Given the description of an element on the screen output the (x, y) to click on. 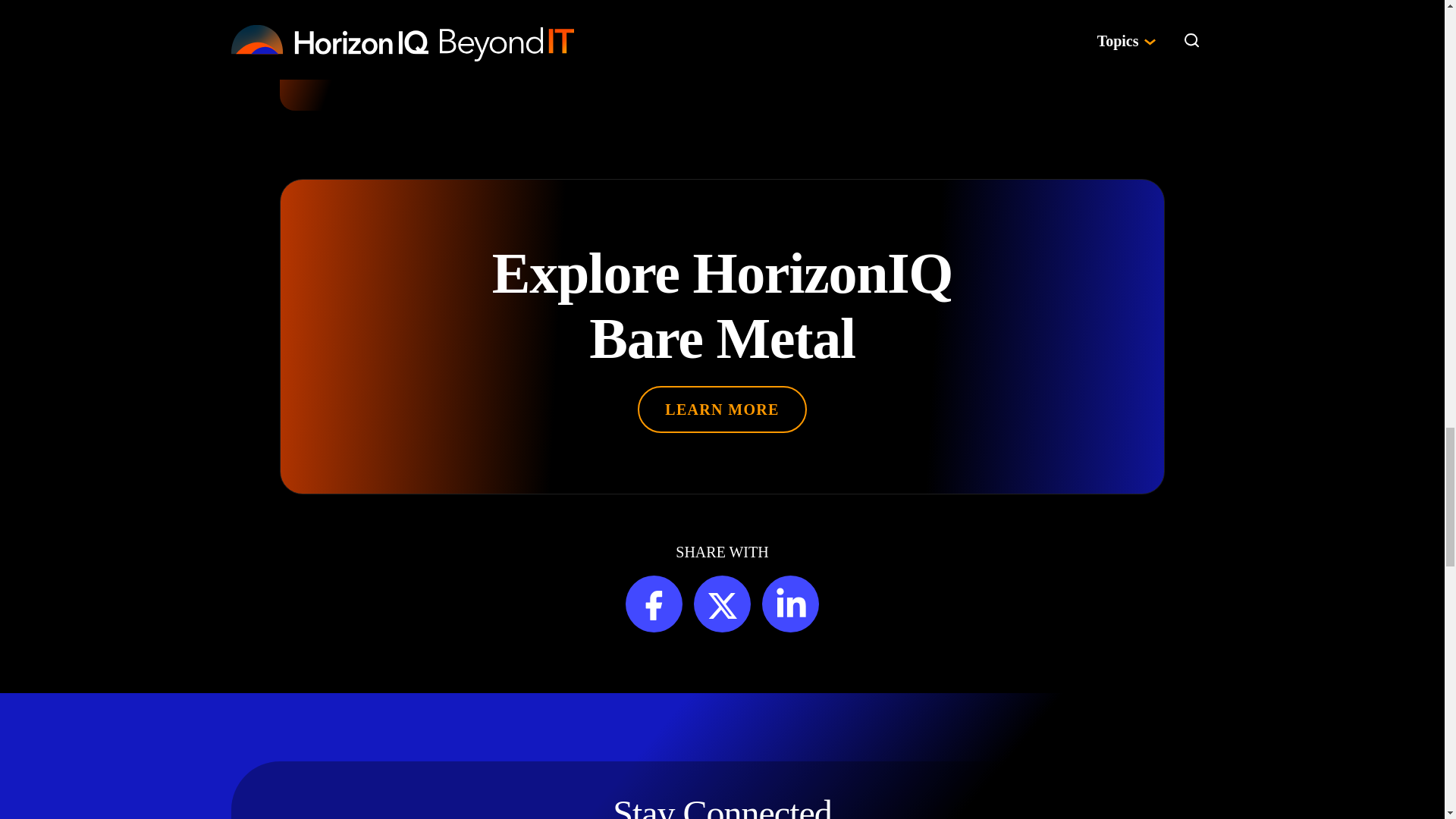
See author's posts (489, 63)
LEARN MORE (721, 409)
INAP (430, 17)
